Given the description of an element on the screen output the (x, y) to click on. 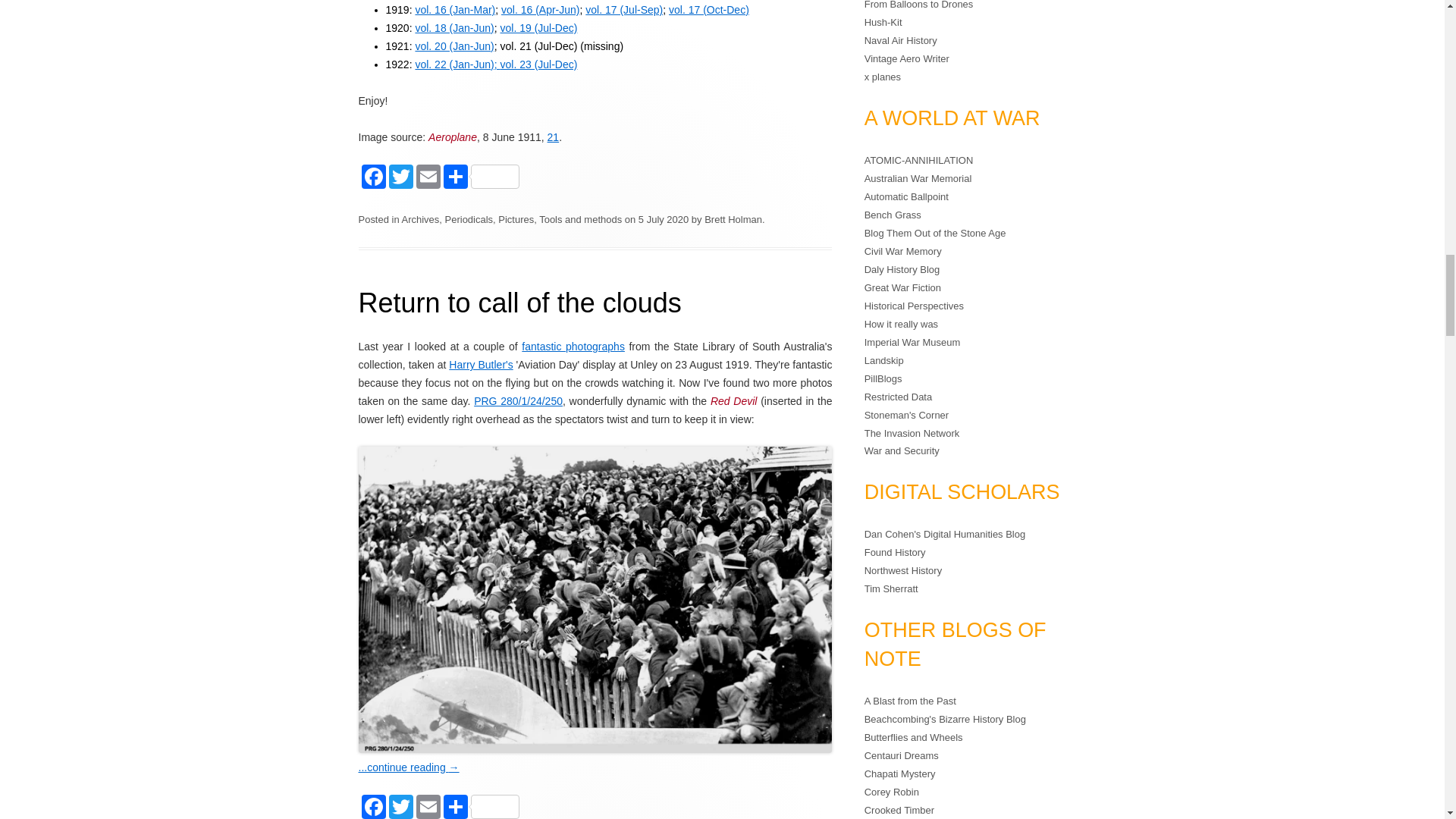
Email (425, 178)
Twitter (398, 178)
Facebook (371, 178)
